Given the description of an element on the screen output the (x, y) to click on. 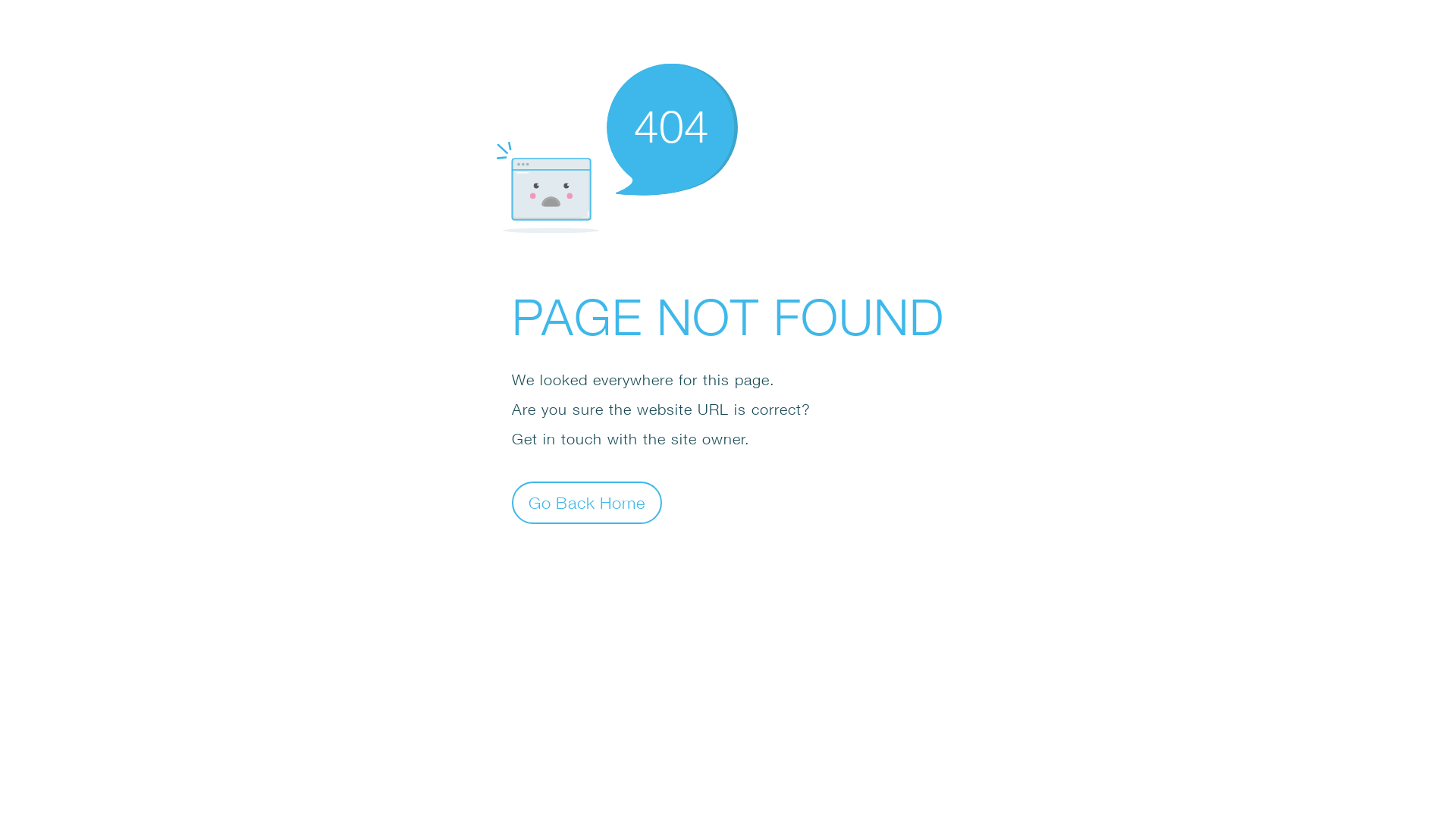
Go Back Home Element type: text (586, 502)
